Given the description of an element on the screen output the (x, y) to click on. 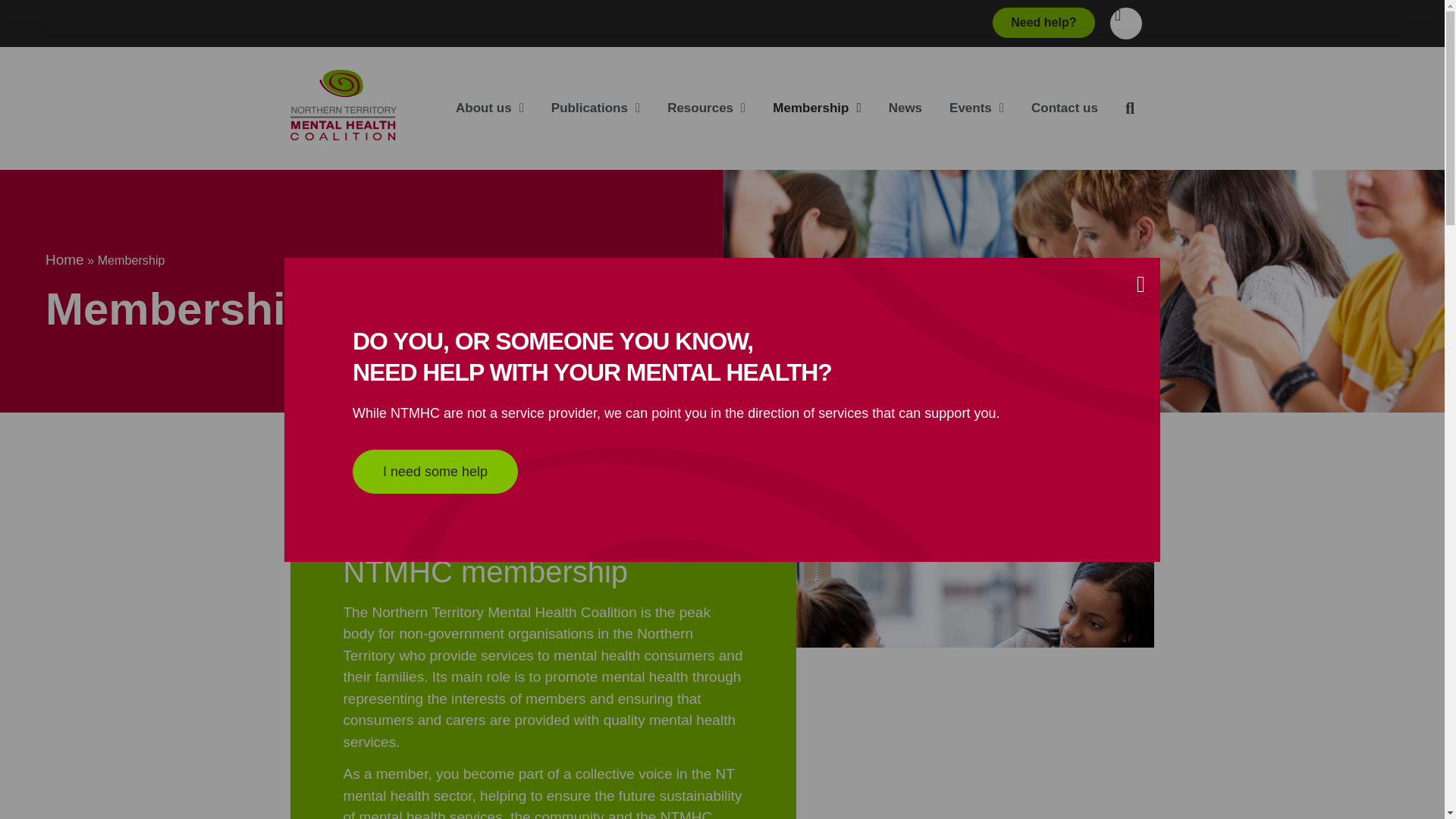
Events (976, 108)
Membership (816, 108)
Resources (705, 108)
NT Mental Health Coalition (342, 104)
About us (489, 108)
News (905, 108)
Publications (595, 108)
Need help? (1043, 22)
Contact us (1064, 108)
